Given the description of an element on the screen output the (x, y) to click on. 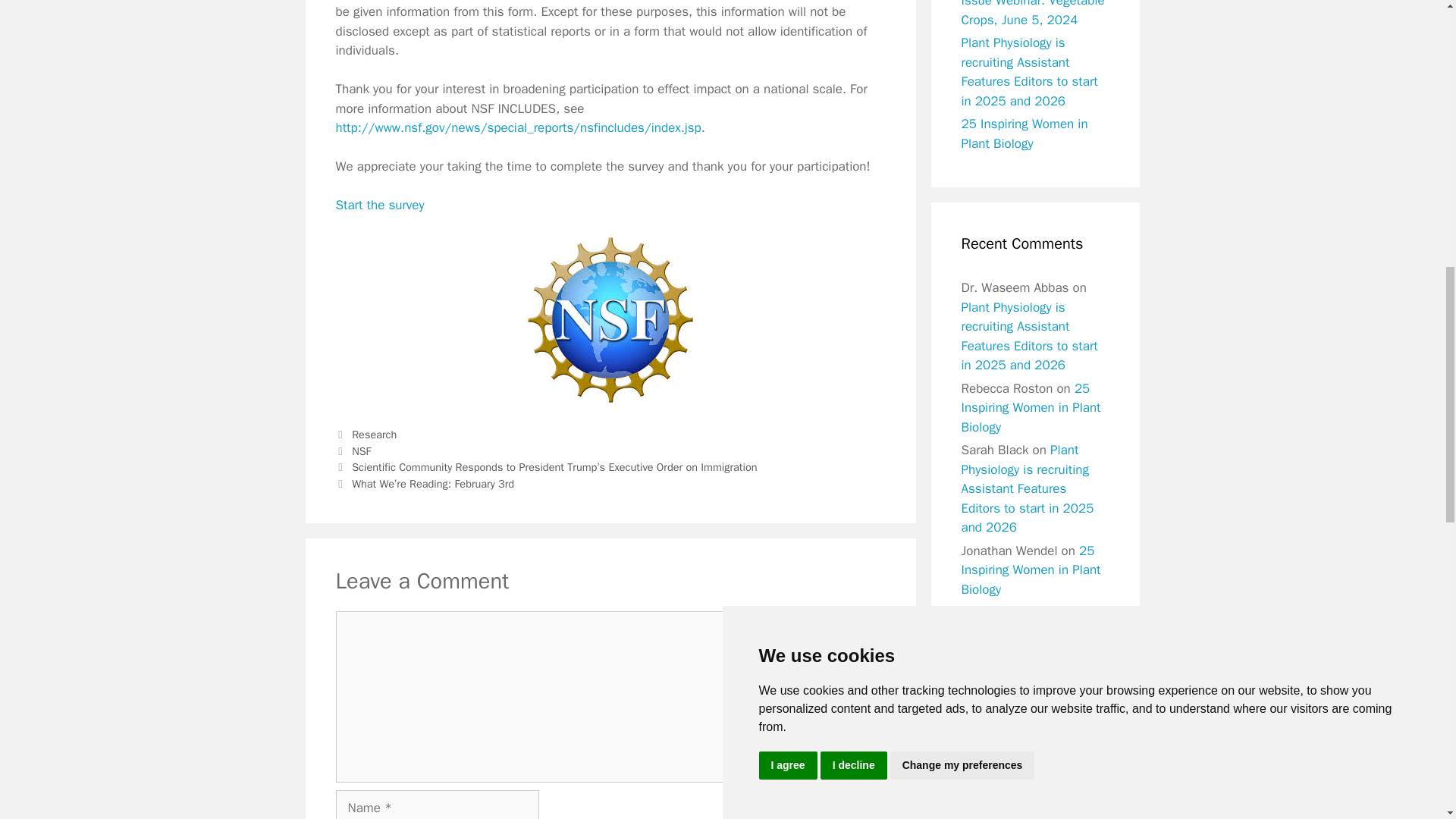
Research (374, 434)
25 Inspiring Women in Plant Biology (1023, 133)
Savita (977, 611)
NSF (361, 450)
25 Inspiring Women in Plant Biology (1030, 569)
25 Inspiring Women in Plant Biology (1030, 407)
Start the survey (378, 204)
